Given the description of an element on the screen output the (x, y) to click on. 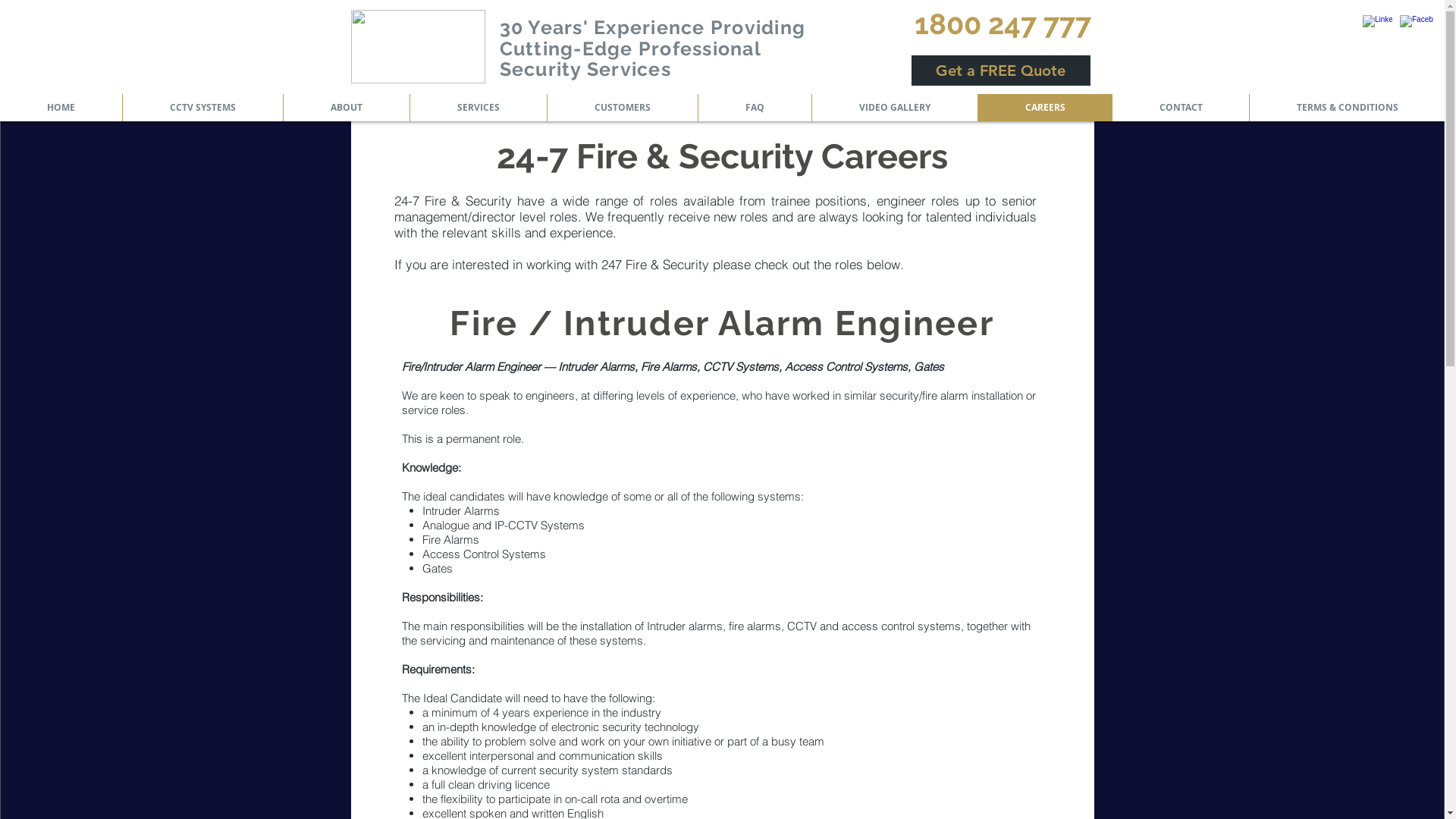
HOME Element type: text (61, 107)
FAQ Element type: text (754, 107)
CUSTOMERS Element type: text (621, 107)
VIDEO GALLERY Element type: text (894, 107)
1800 247 777 Element type: text (1002, 23)
CAREERS Element type: text (1044, 107)
Get a FREE Quote Element type: text (1000, 70)
ABOUT Element type: text (345, 107)
CONTACT Element type: text (1179, 107)
CCTV SYSTEMS Element type: text (202, 107)
TERMS & CONDITIONS Element type: text (1346, 107)
SERVICES Element type: text (477, 107)
